Given the description of an element on the screen output the (x, y) to click on. 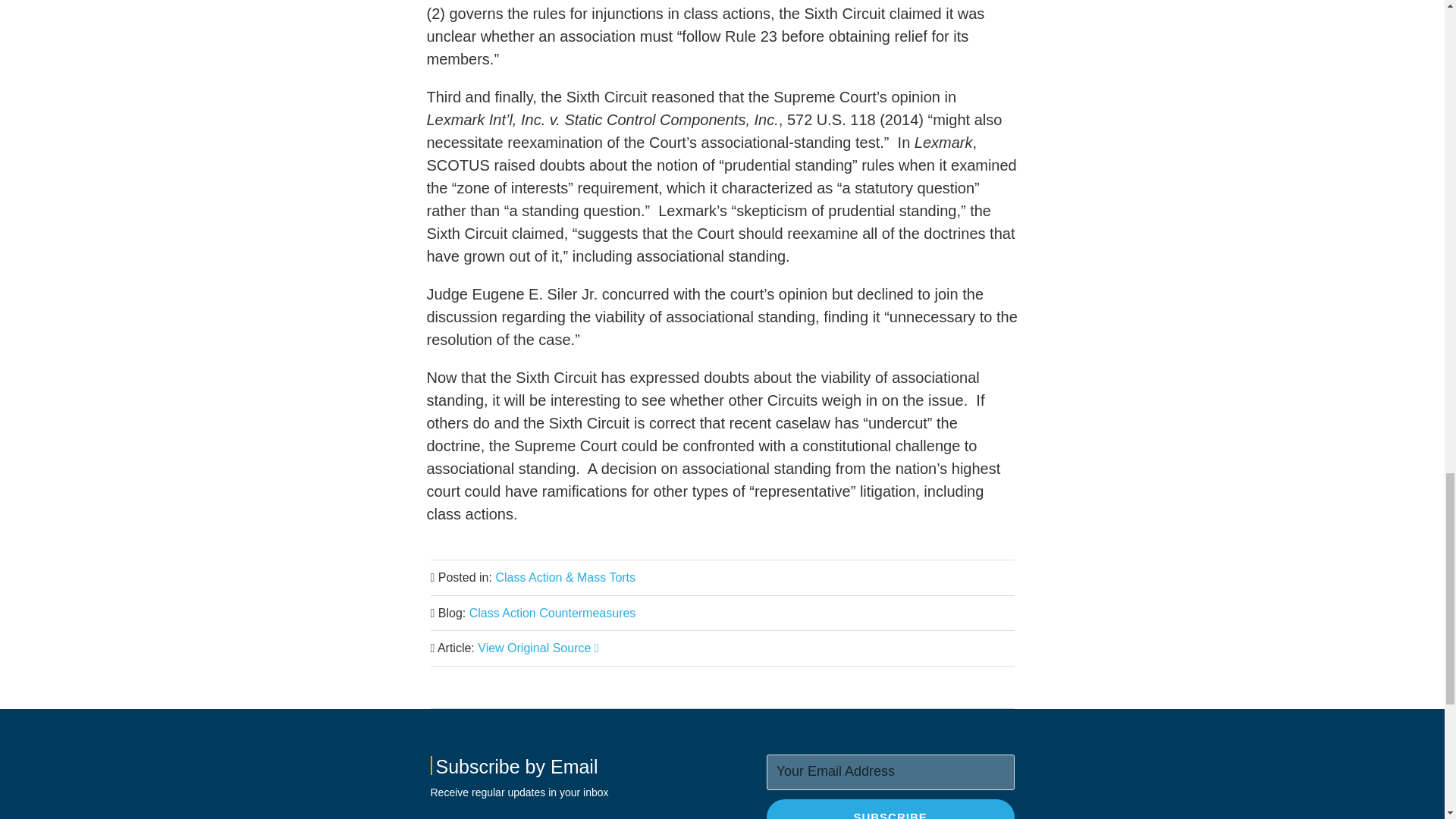
SUBSCRIBE (890, 809)
View Original Source (537, 647)
SUBSCRIBE (890, 809)
Class Action Countermeasures (552, 612)
